Given the description of an element on the screen output the (x, y) to click on. 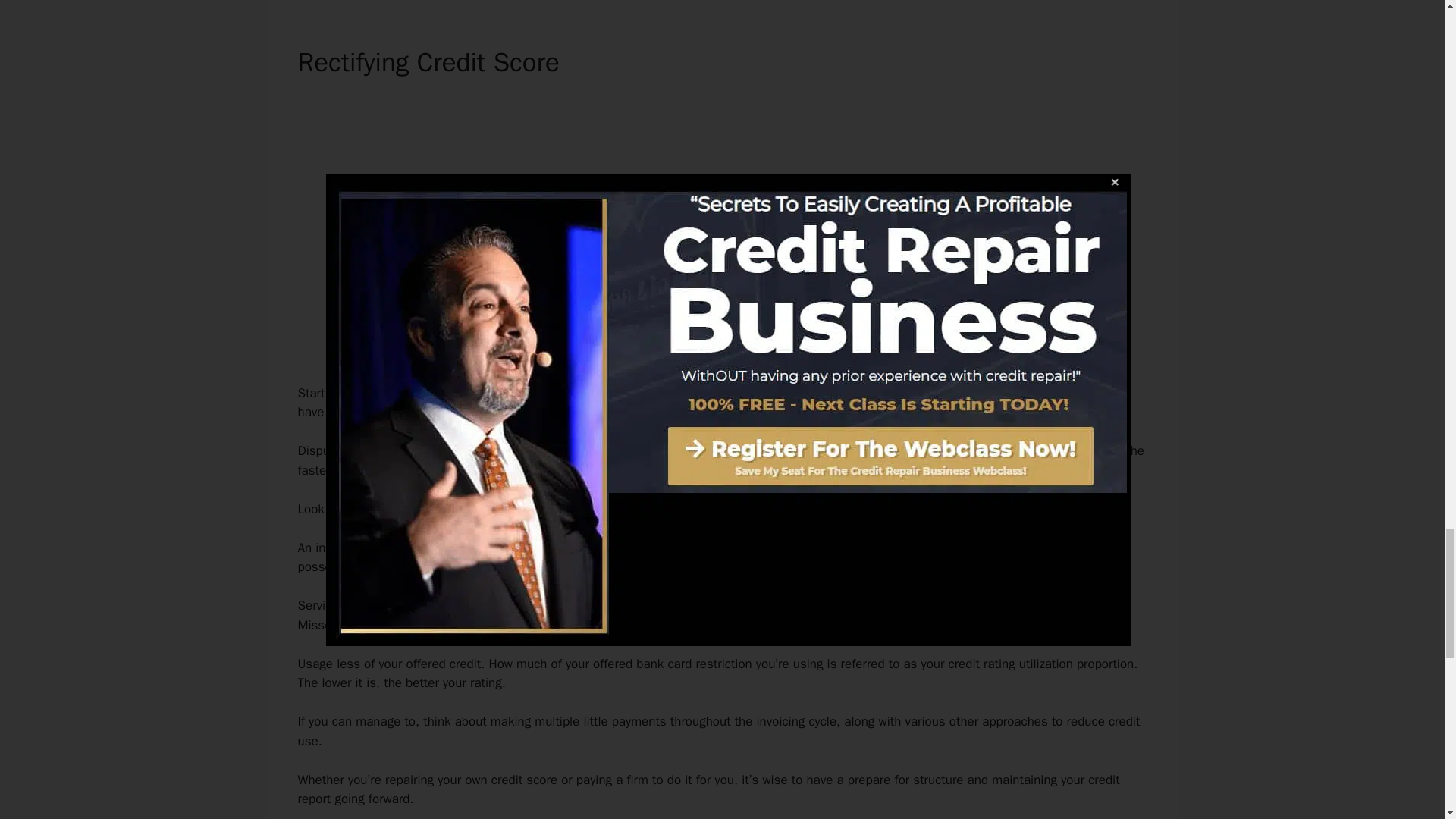
reporting bureaus (805, 392)
TransUnion (1062, 392)
Equifax (978, 392)
